Given the description of an element on the screen output the (x, y) to click on. 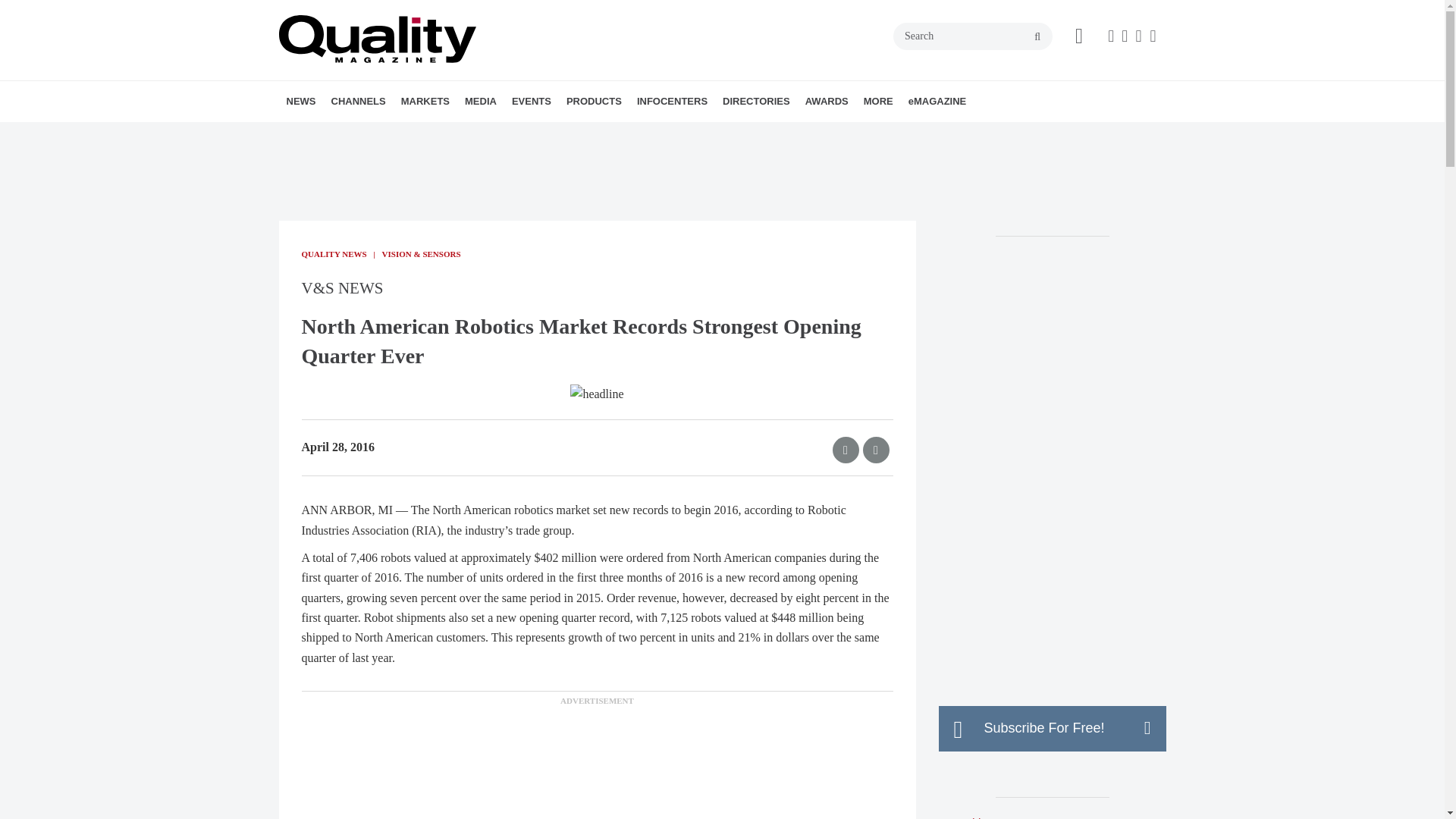
MEDICAL (515, 134)
MEDIA (480, 101)
GREEN MANUFACTURING (511, 134)
A WORD ON QUALITY PUZZLE (551, 134)
MARKETS (425, 101)
NDT (436, 134)
WEBINARS (574, 134)
Search (972, 35)
AEROSPACE (488, 134)
VIDEOS (570, 134)
